Given the description of an element on the screen output the (x, y) to click on. 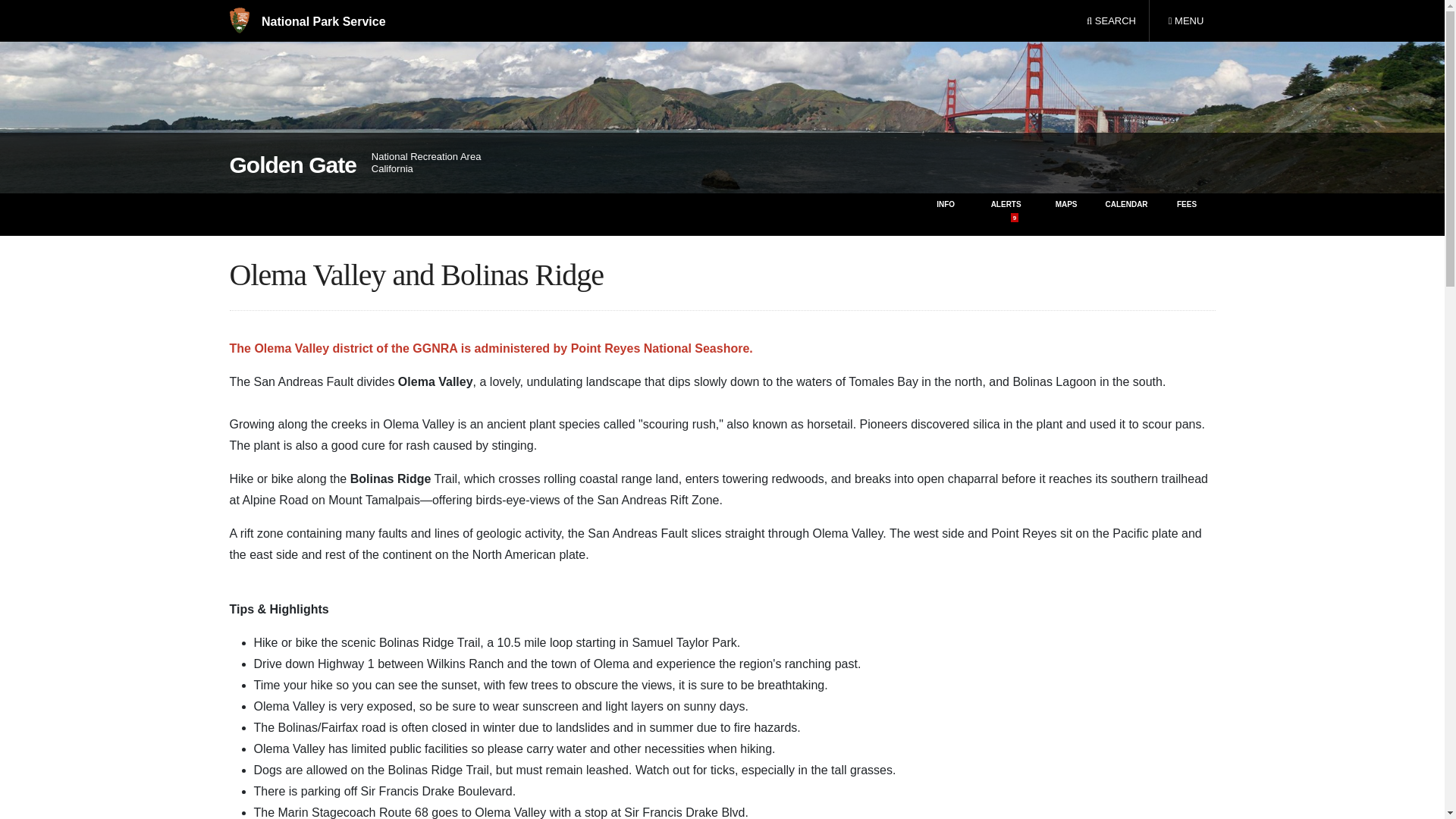
Golden Gate (291, 164)
INFO (945, 214)
SEARCH (1185, 20)
National Park Service (1111, 20)
